Given the description of an element on the screen output the (x, y) to click on. 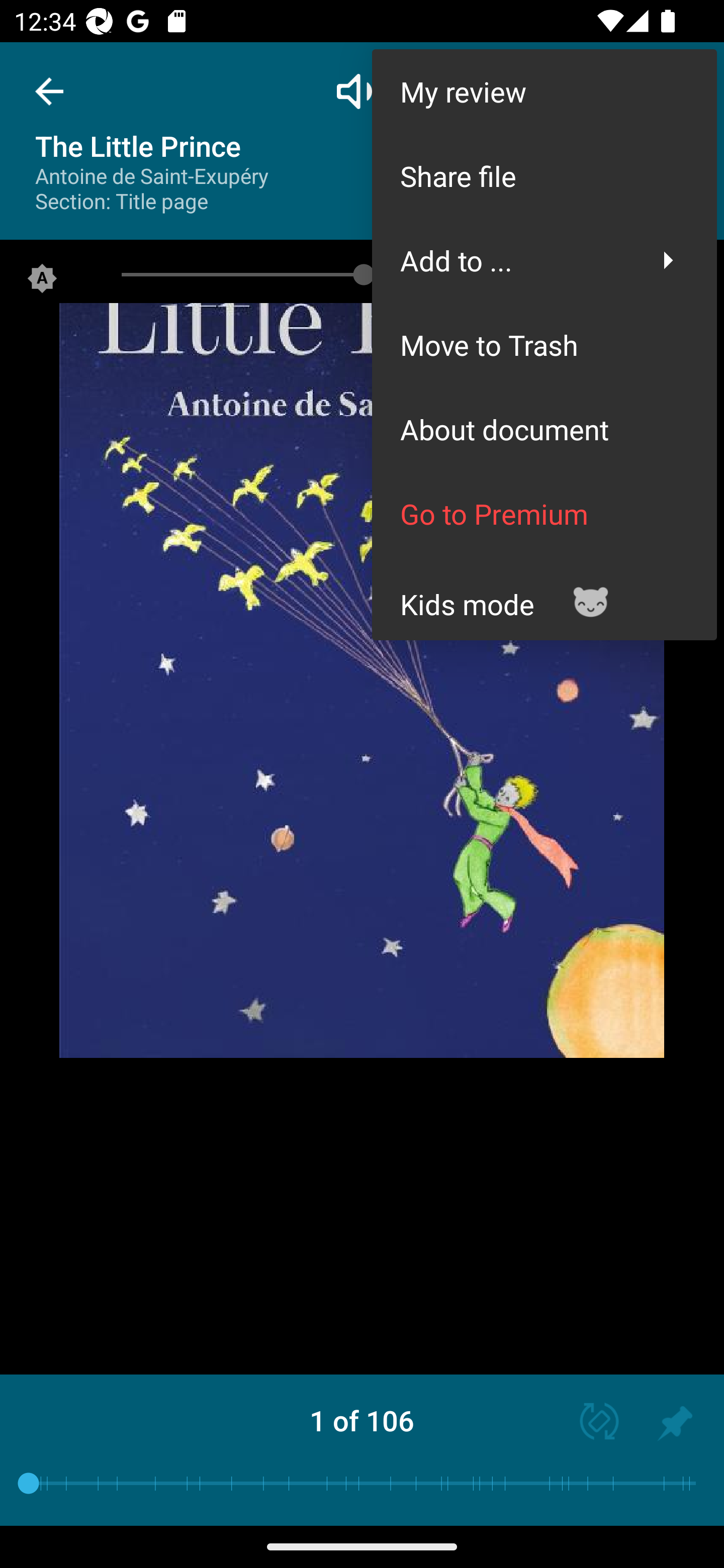
My review (544, 90)
Share file (544, 175)
Add to ... (544, 259)
Move to Trash (544, 344)
About document (544, 429)
Go to Premium (544, 513)
Kids mode     * (544, 597)
